Given the description of an element on the screen output the (x, y) to click on. 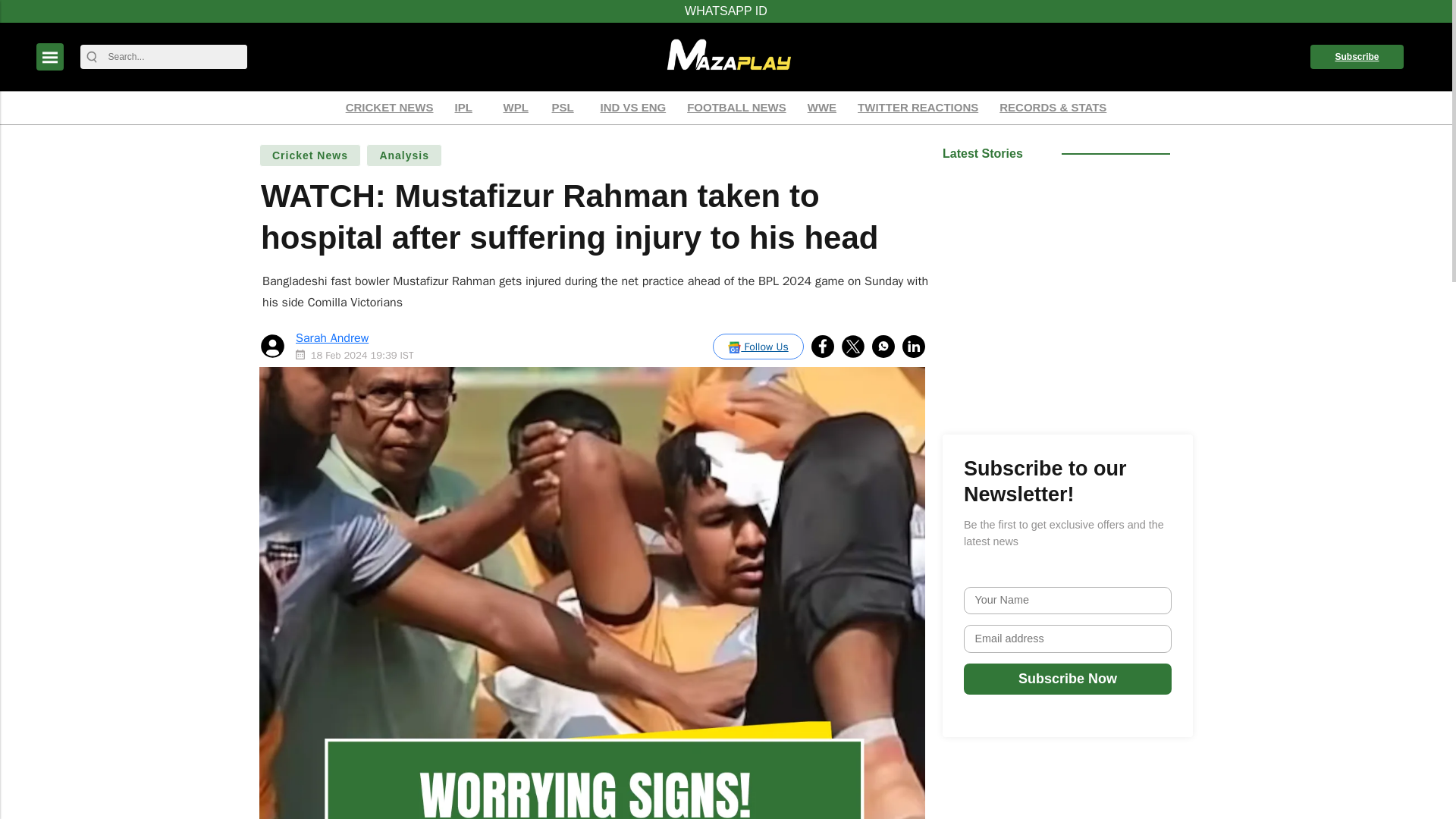
FOOTBALL NEWS (736, 107)
IND VS ENG (632, 107)
WWE (821, 107)
Follow Us (758, 346)
PSL (564, 107)
WPL (516, 107)
Analysis (404, 155)
Sarah Andrew (331, 337)
Cricket News (310, 155)
IPL (467, 107)
CRICKET NEWS (389, 107)
TWITTER REACTIONS (917, 107)
Subscribe (1356, 56)
